Given the description of an element on the screen output the (x, y) to click on. 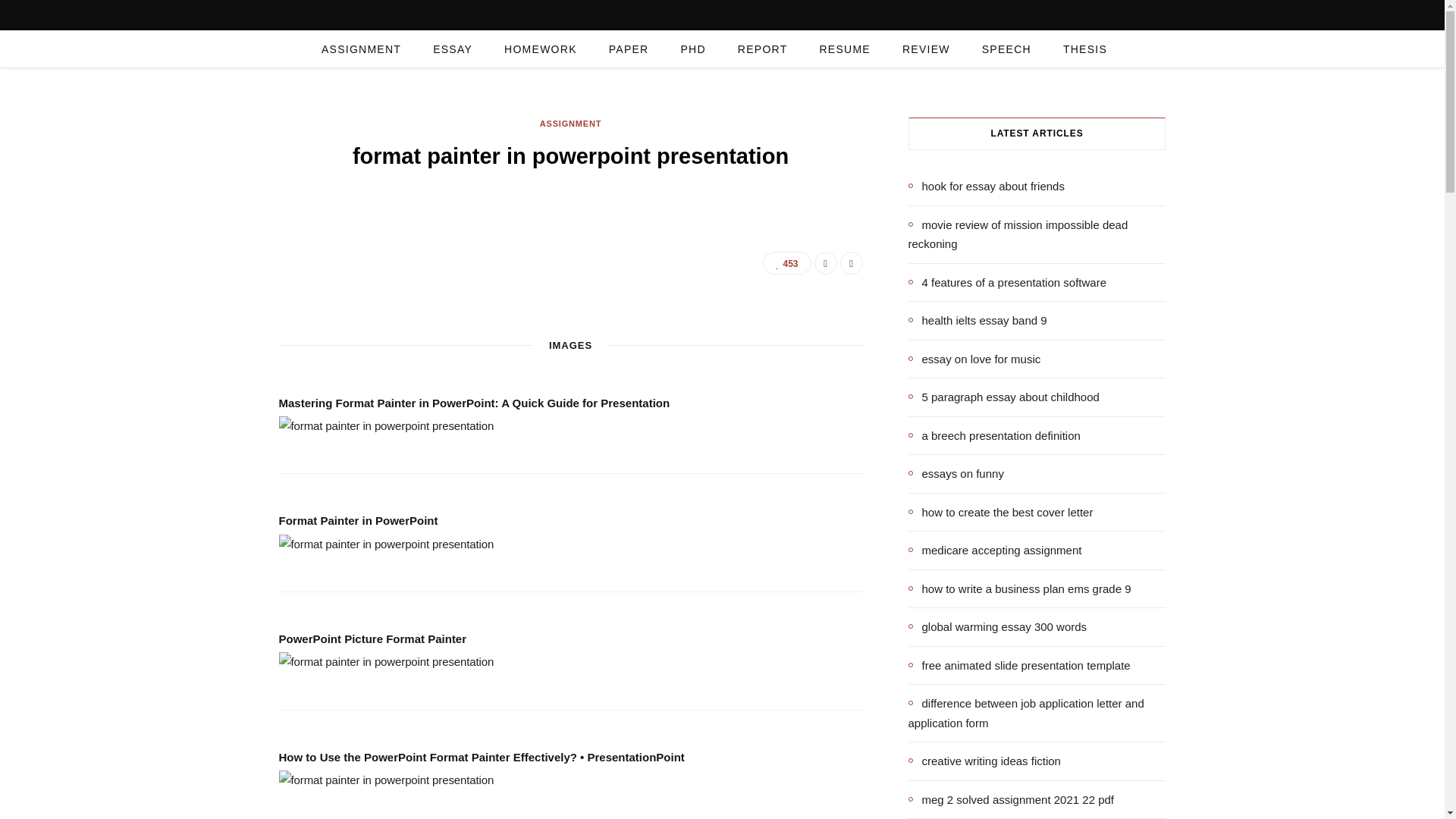
hook for essay about friends (986, 186)
format painter in powerpoint presentation (387, 661)
PHD (691, 48)
free animated slide presentation template (1019, 664)
how to write a business plan ems grade 9 (1019, 588)
SPEECH (1006, 48)
medicare accepting assignment (994, 550)
REPORT (762, 48)
a breech presentation definition (994, 435)
THESIS (1084, 48)
PAPER (628, 48)
Share on Facebook (825, 262)
format painter in powerpoint presentation (387, 425)
health ielts essay band 9 (977, 320)
how to create the best cover letter (1000, 511)
